Given the description of an element on the screen output the (x, y) to click on. 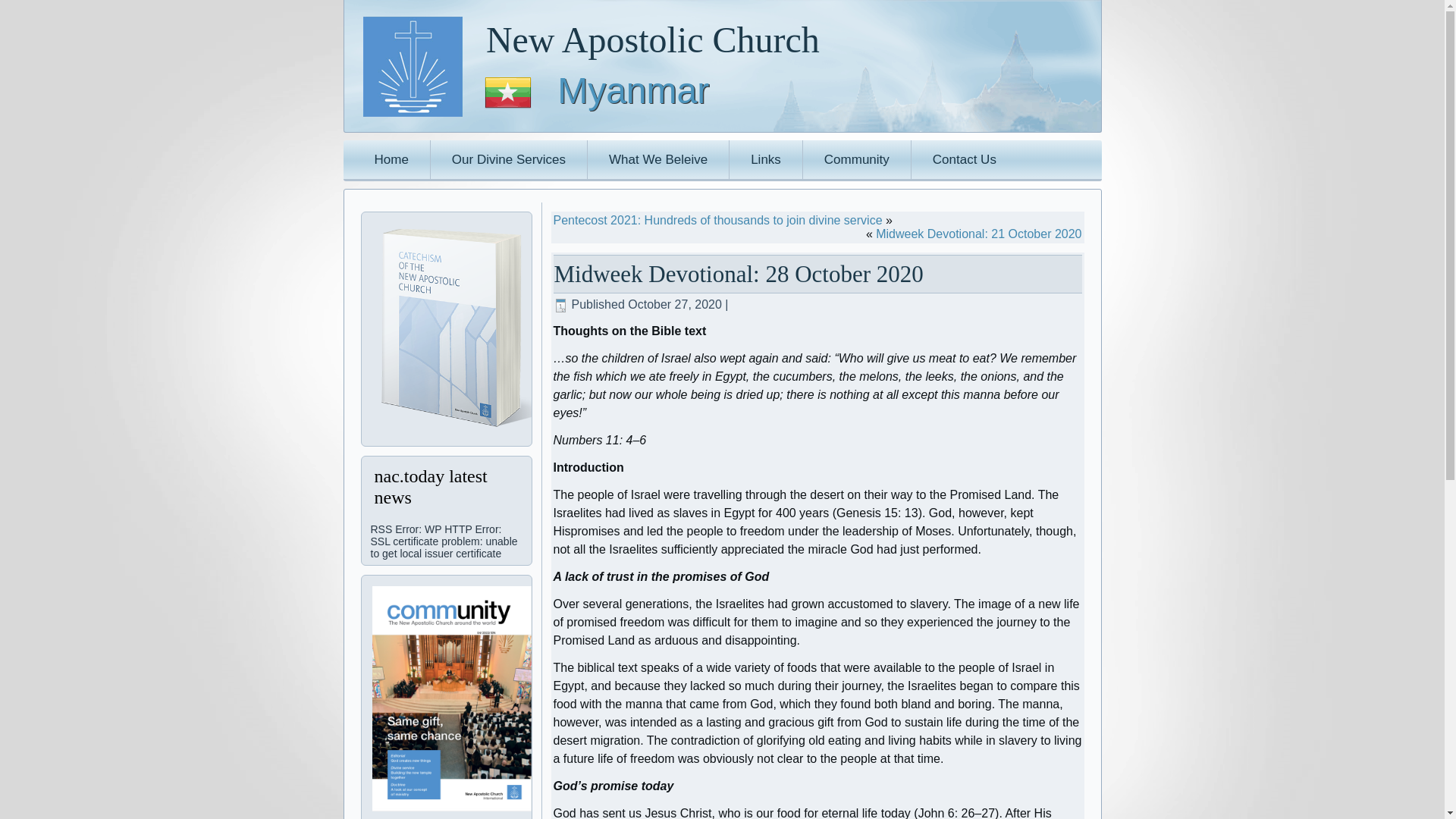
Links (765, 159)
Links (765, 159)
Home (391, 159)
Midweek Devotional: 21 October 2020 (978, 233)
Pentecost 2021: Hundreds of thousands to join divine service (717, 219)
What We Beleive (658, 159)
Community (857, 159)
What We Beleive (658, 159)
Home (391, 159)
Our Divine Services (508, 159)
New Apostolic Church (652, 39)
Our Divine Services (508, 159)
Contact Us (964, 159)
